Given the description of an element on the screen output the (x, y) to click on. 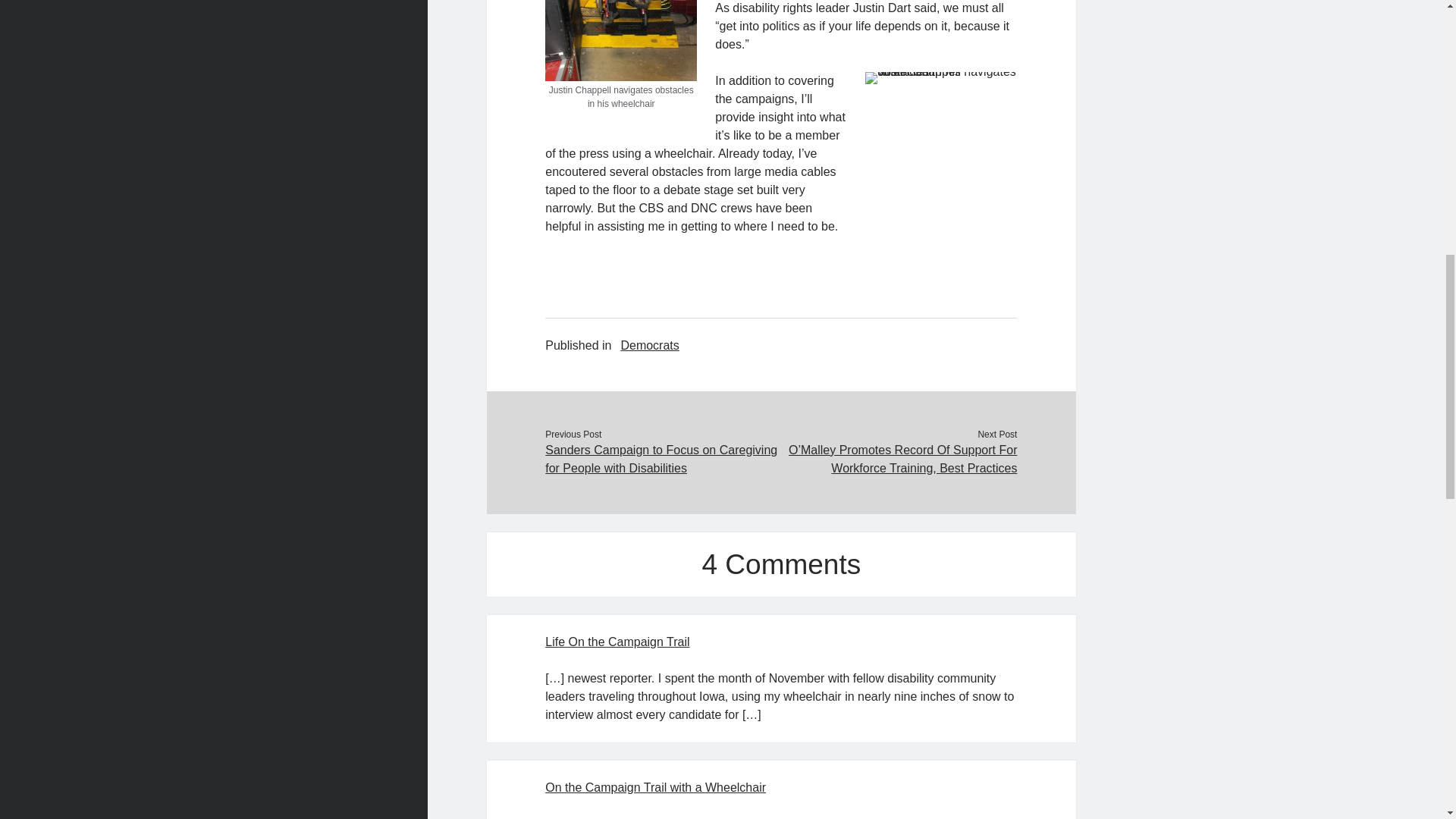
Democrats (649, 345)
On the Campaign Trail with a Wheelchair (654, 787)
View all posts in Democrats (649, 345)
Life On the Campaign Trail (616, 641)
